Given the description of an element on the screen output the (x, y) to click on. 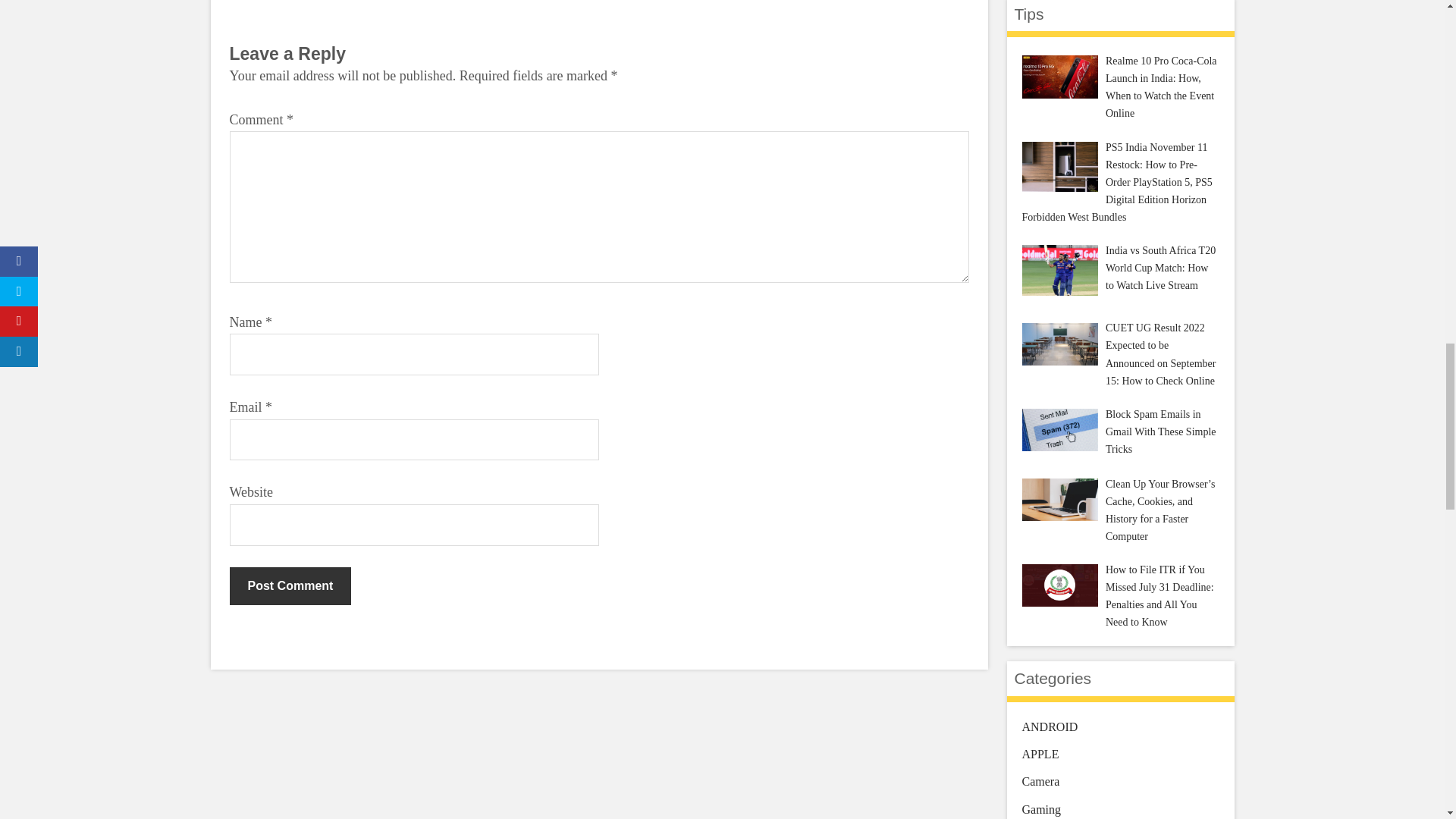
Post Comment (289, 586)
